Given the description of an element on the screen output the (x, y) to click on. 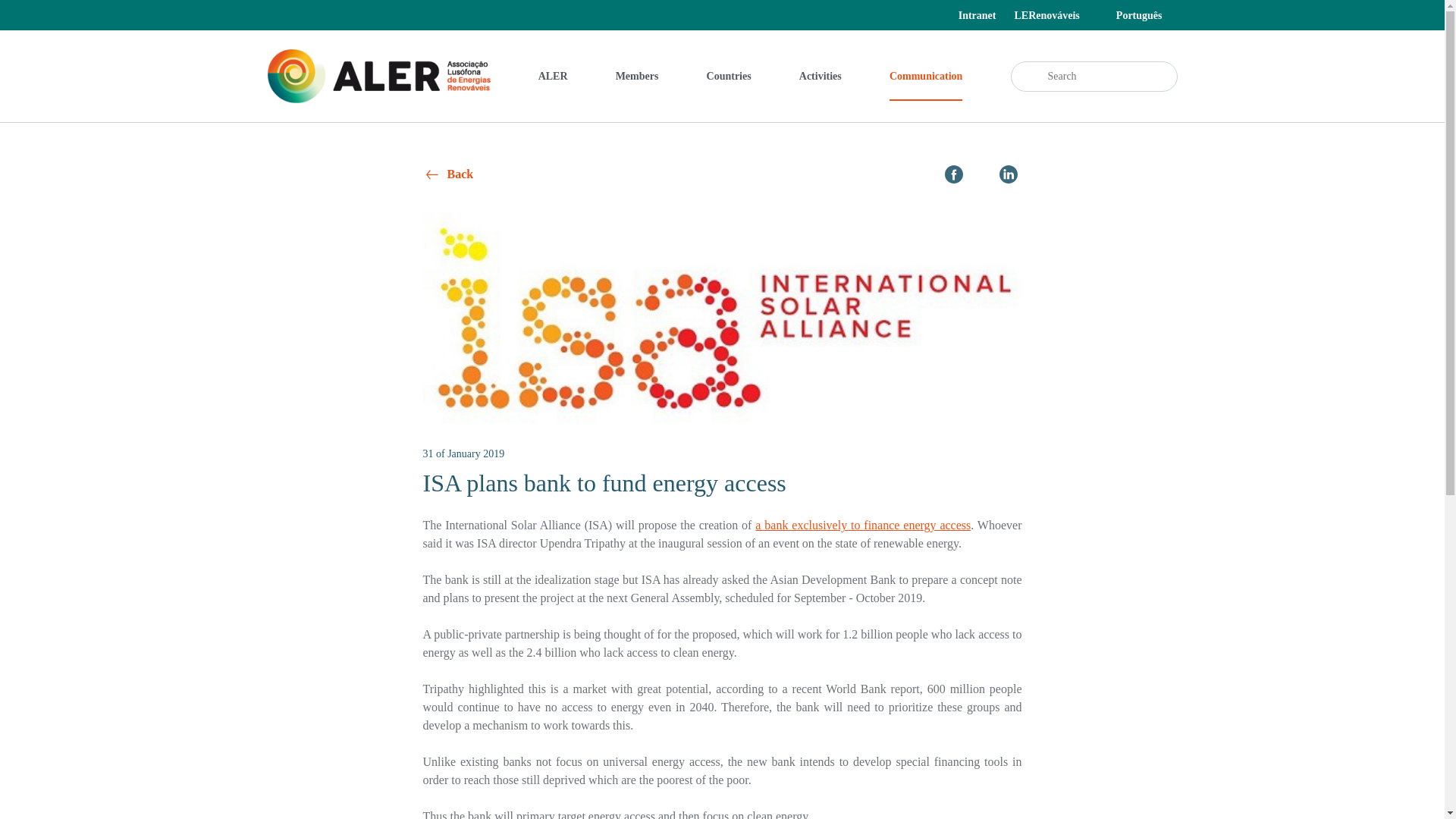
Communication (925, 75)
Intranet (976, 15)
Countries (728, 75)
Back (448, 174)
a bank exclusively to finance energy access (863, 524)
